Given the description of an element on the screen output the (x, y) to click on. 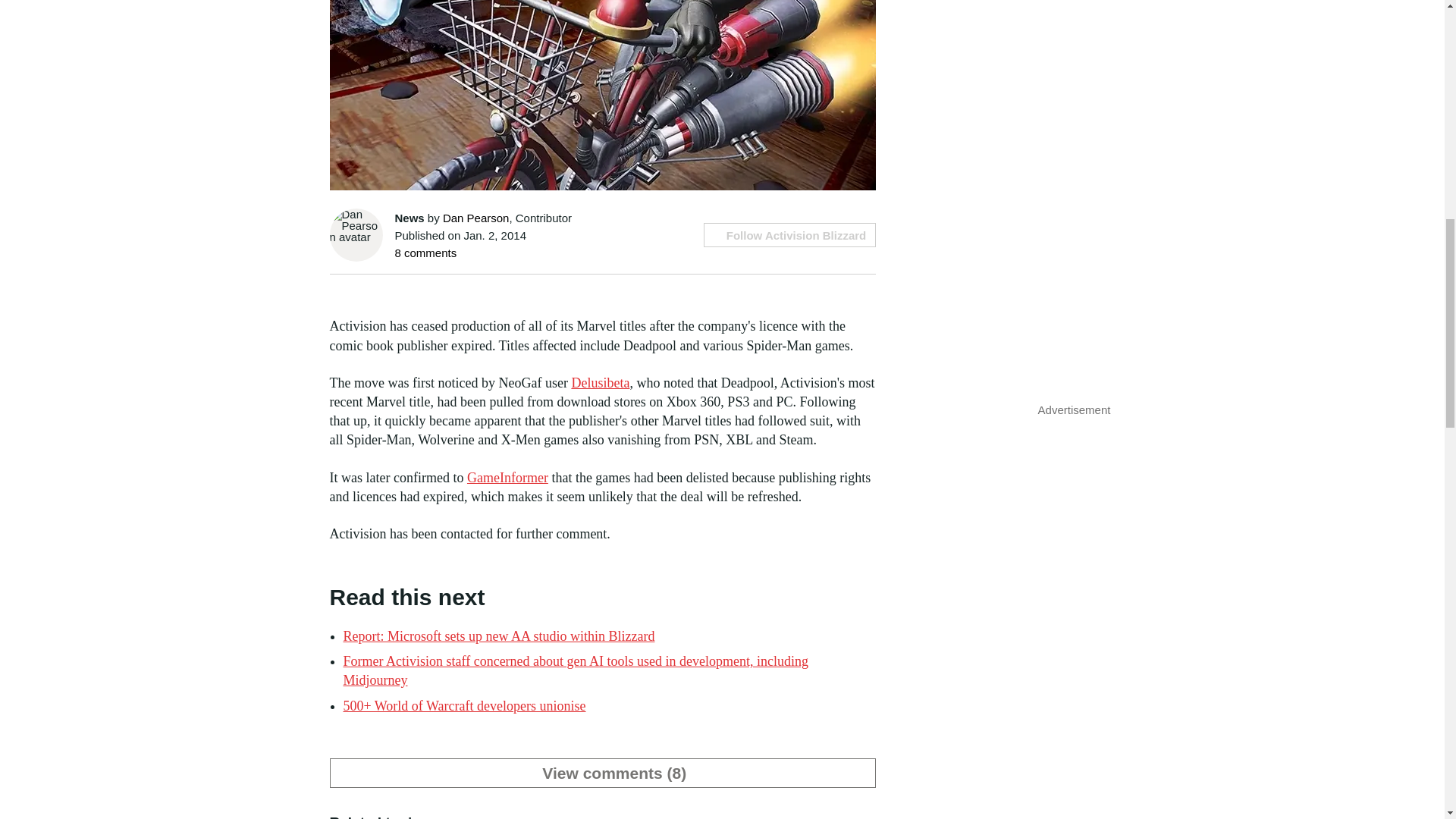
Follow Activision Blizzard (789, 234)
Report: Microsoft sets up new AA studio within Blizzard (497, 635)
GameInformer (507, 477)
Activision Blizzard (477, 818)
Dan Pearson (475, 217)
Delusibeta (599, 382)
Publishing (634, 818)
Follow Activision Blizzard (789, 234)
Marvel Studios (565, 818)
8 comments (425, 252)
